Given the description of an element on the screen output the (x, y) to click on. 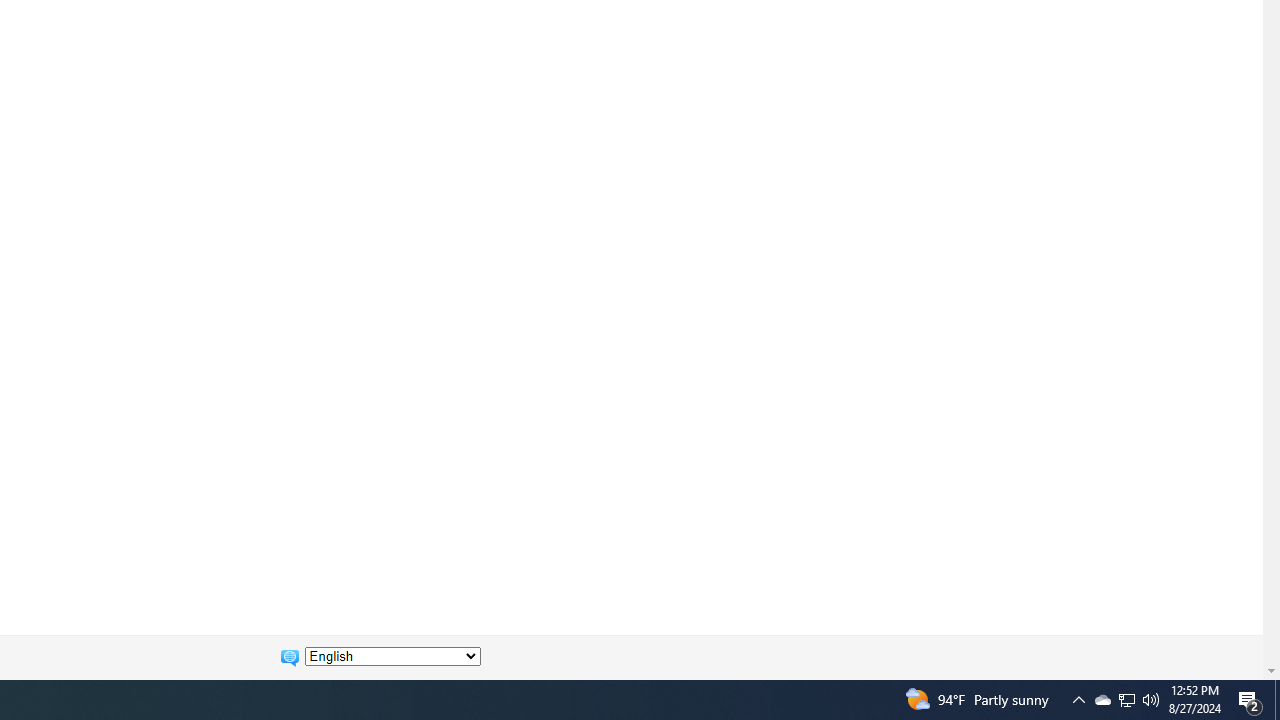
Change language: (392, 656)
